Given the description of an element on the screen output the (x, y) to click on. 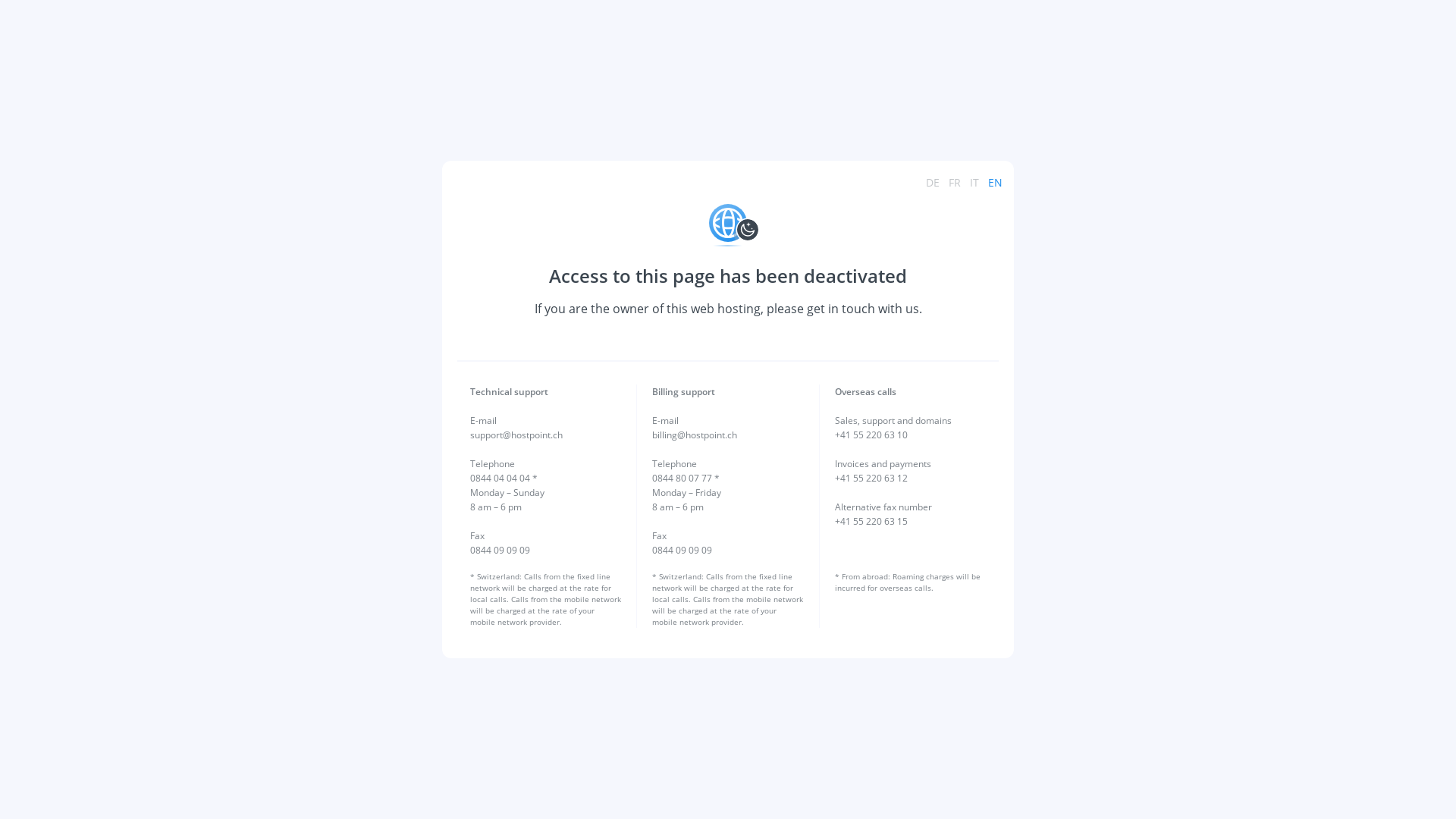
support@hostpoint.ch Element type: text (516, 434)
billing@hostpoint.ch Element type: text (694, 434)
